Given the description of an element on the screen output the (x, y) to click on. 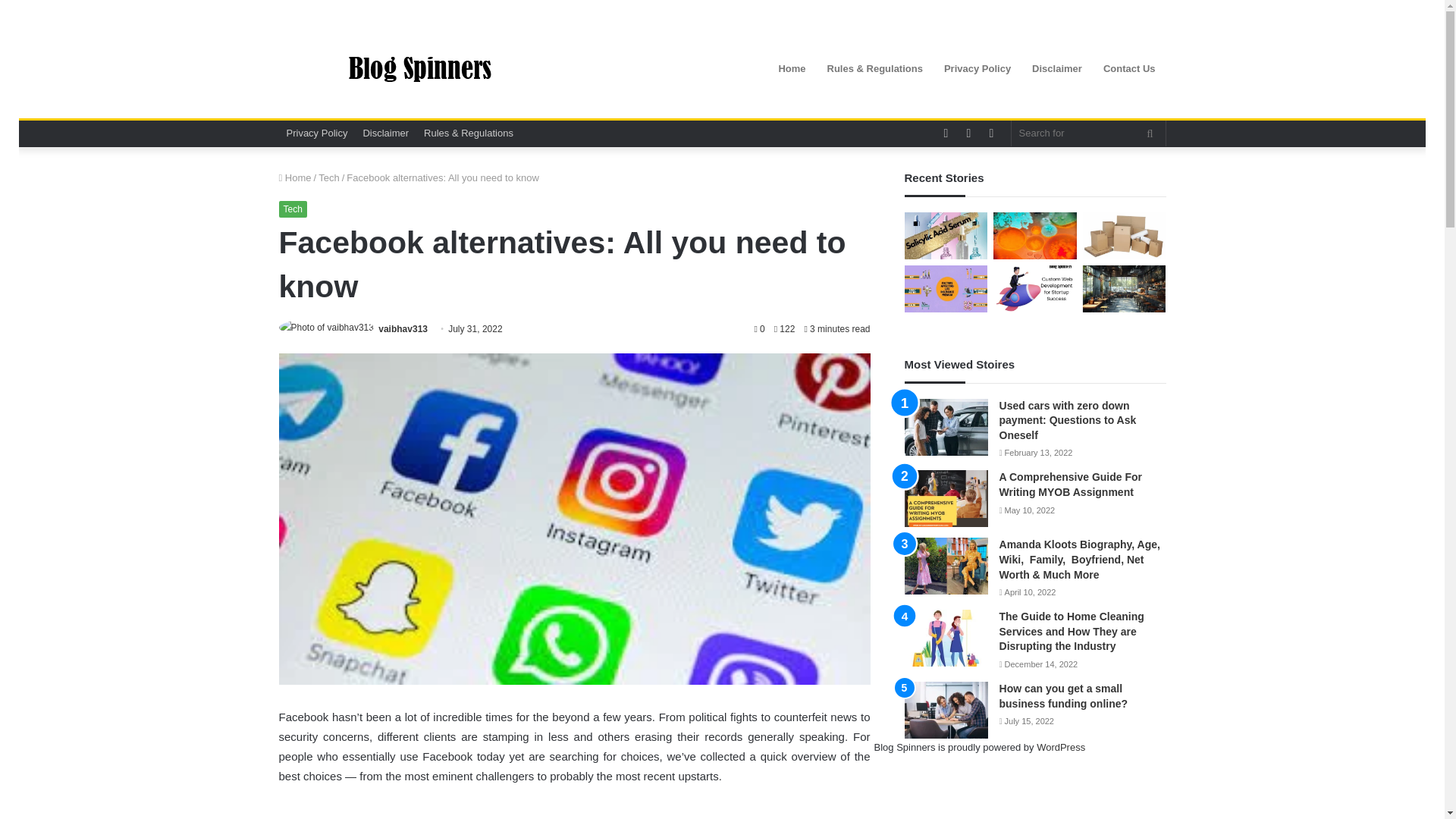
vaibhav313 (403, 328)
Tech (328, 177)
Privacy Policy (317, 132)
Disclaimer (385, 132)
Tech (293, 208)
Search for (1150, 132)
Search for (1088, 132)
Blog Spinners (419, 69)
Home (295, 177)
vaibhav313 (403, 328)
